Given the description of an element on the screen output the (x, y) to click on. 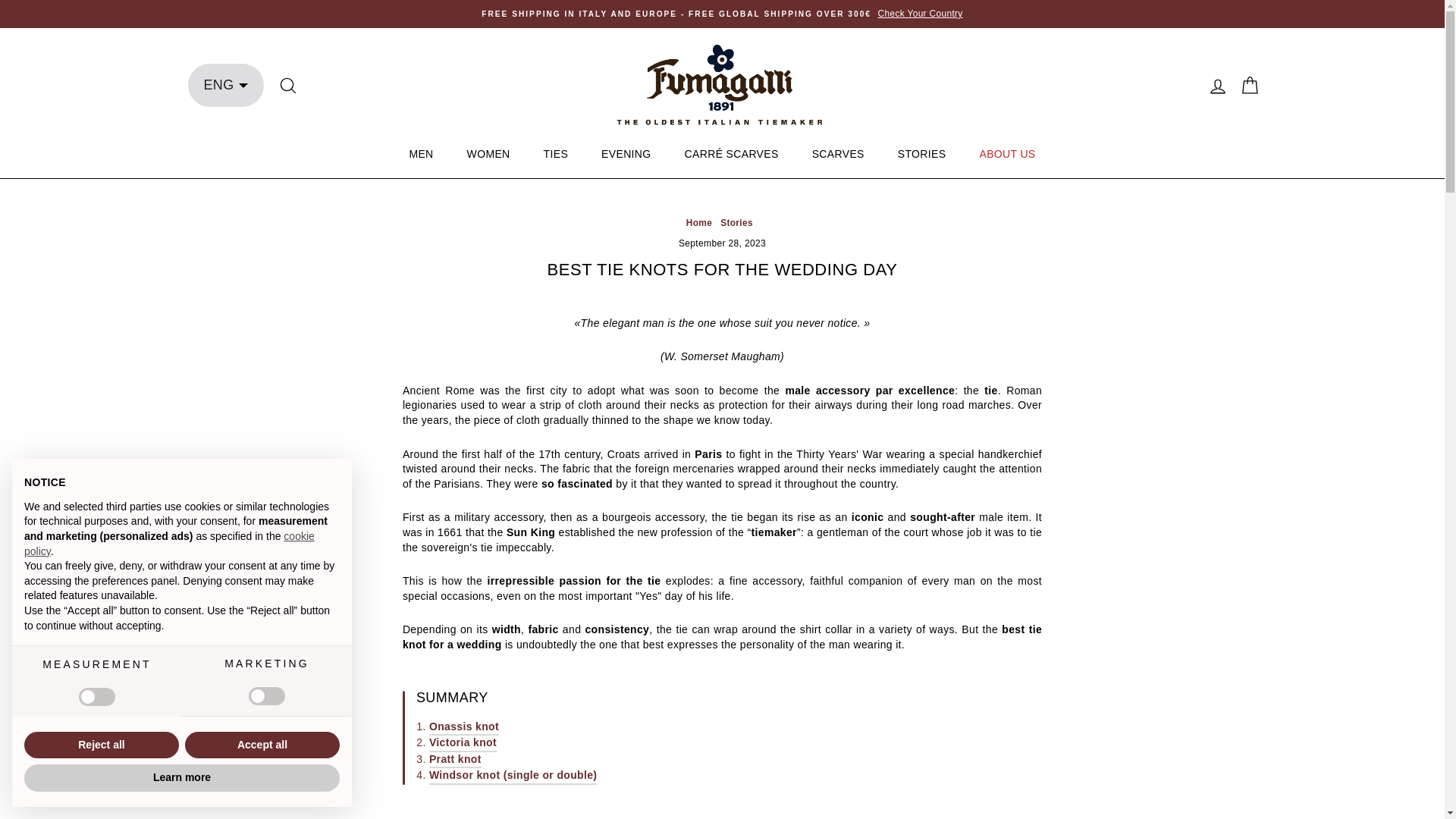
Fumagalli1891.it logo (721, 85)
false (266, 696)
false (96, 696)
Back to the frontpage (698, 222)
